Given the description of an element on the screen output the (x, y) to click on. 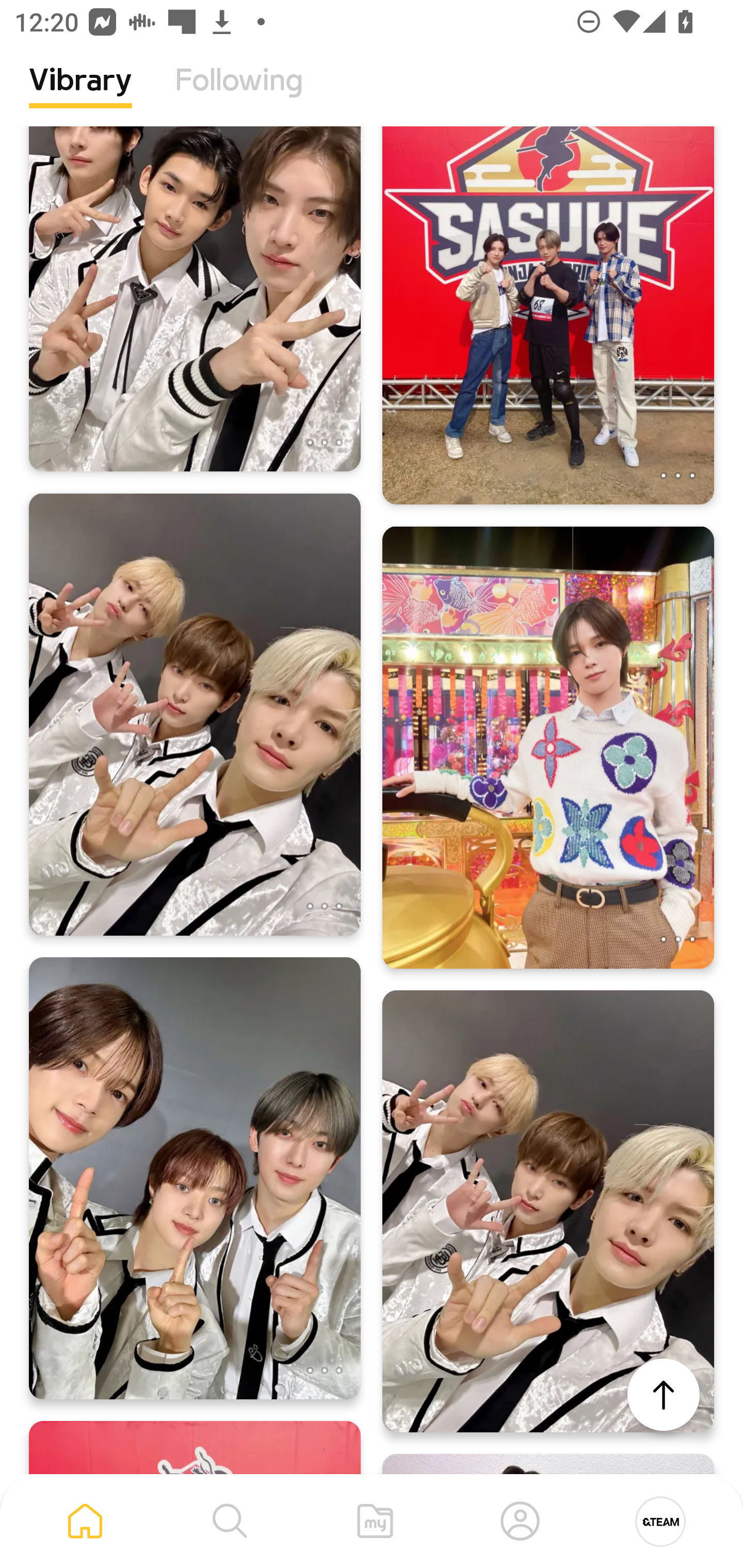
Vibrary (80, 95)
Following (239, 95)
